Given the description of an element on the screen output the (x, y) to click on. 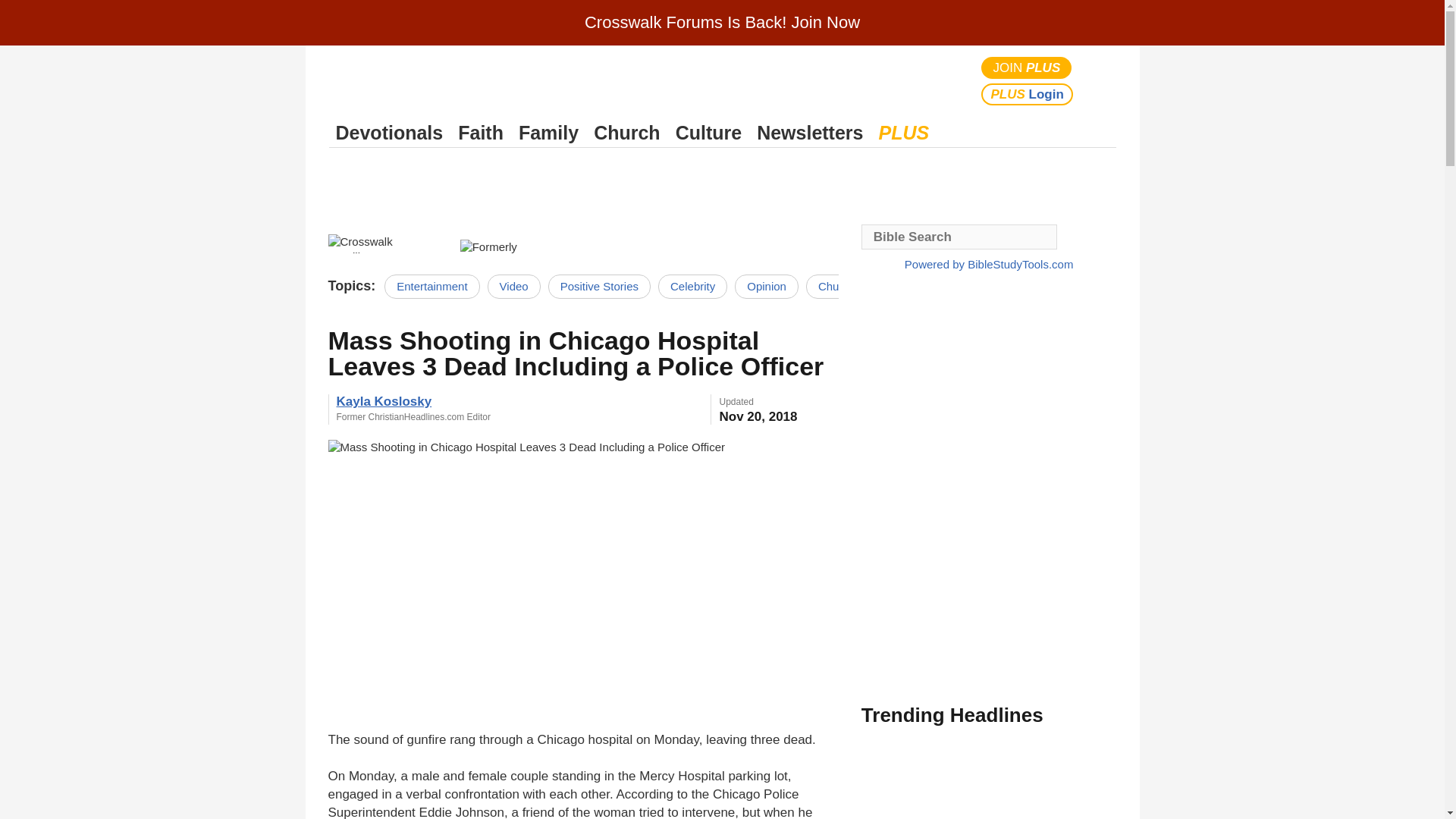
Plus Login (1026, 94)
Join Plus (1026, 67)
Devotionals (389, 132)
Family (548, 132)
Search (1101, 80)
PLUS Login (1026, 94)
Faith (481, 132)
JOIN PLUS (1026, 67)
Crosswalk Headlines (385, 241)
